Given the description of an element on the screen output the (x, y) to click on. 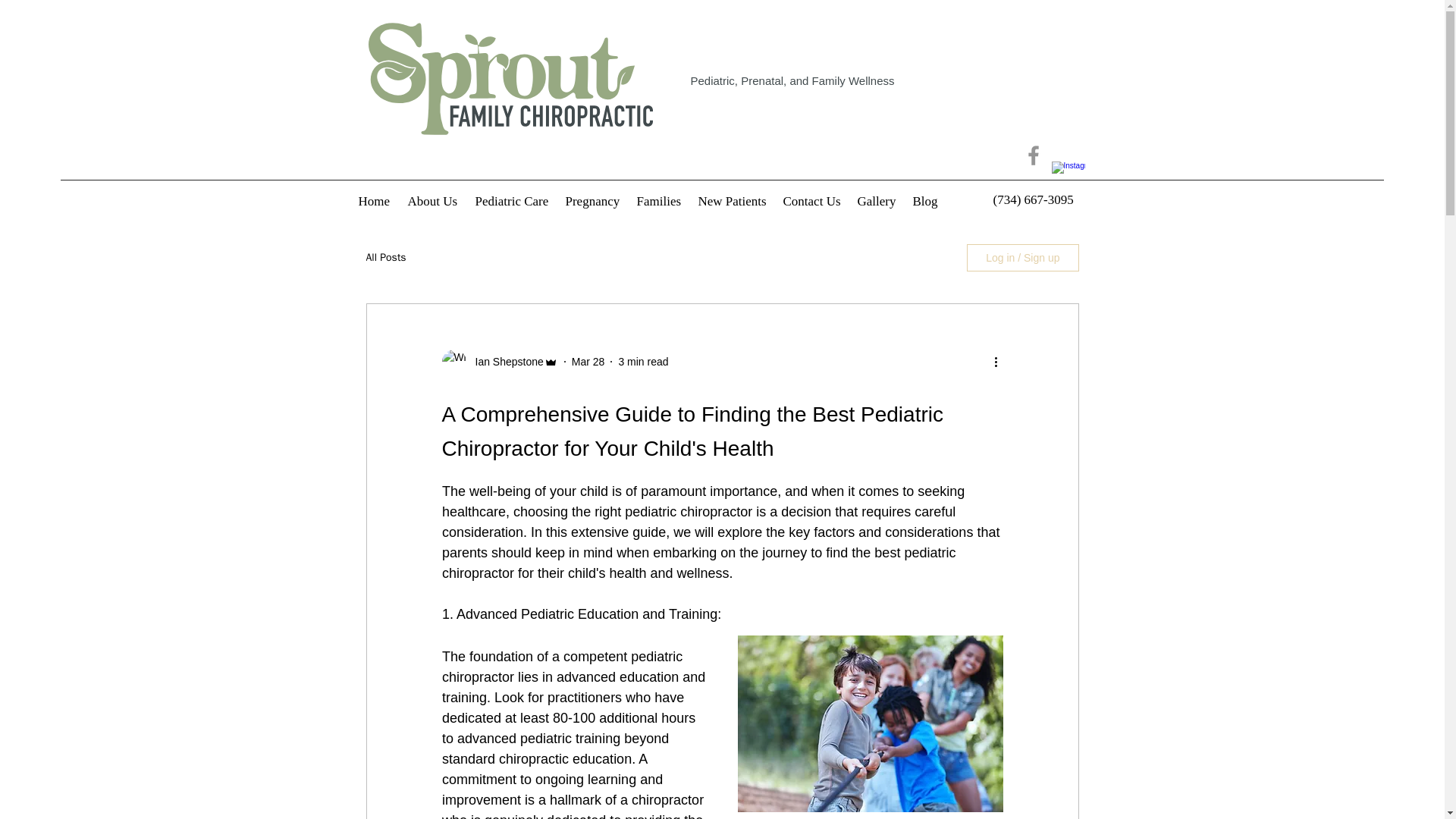
New Patients (732, 200)
3 min read (642, 360)
All Posts (385, 257)
Mar 28 (588, 360)
Home (374, 200)
Families (659, 200)
Blog (926, 200)
About Us (433, 200)
Gallery (876, 200)
Pregnancy (592, 200)
Pediatric Care (512, 200)
Contact Us (811, 200)
Ian Shepstone (504, 360)
